Given the description of an element on the screen output the (x, y) to click on. 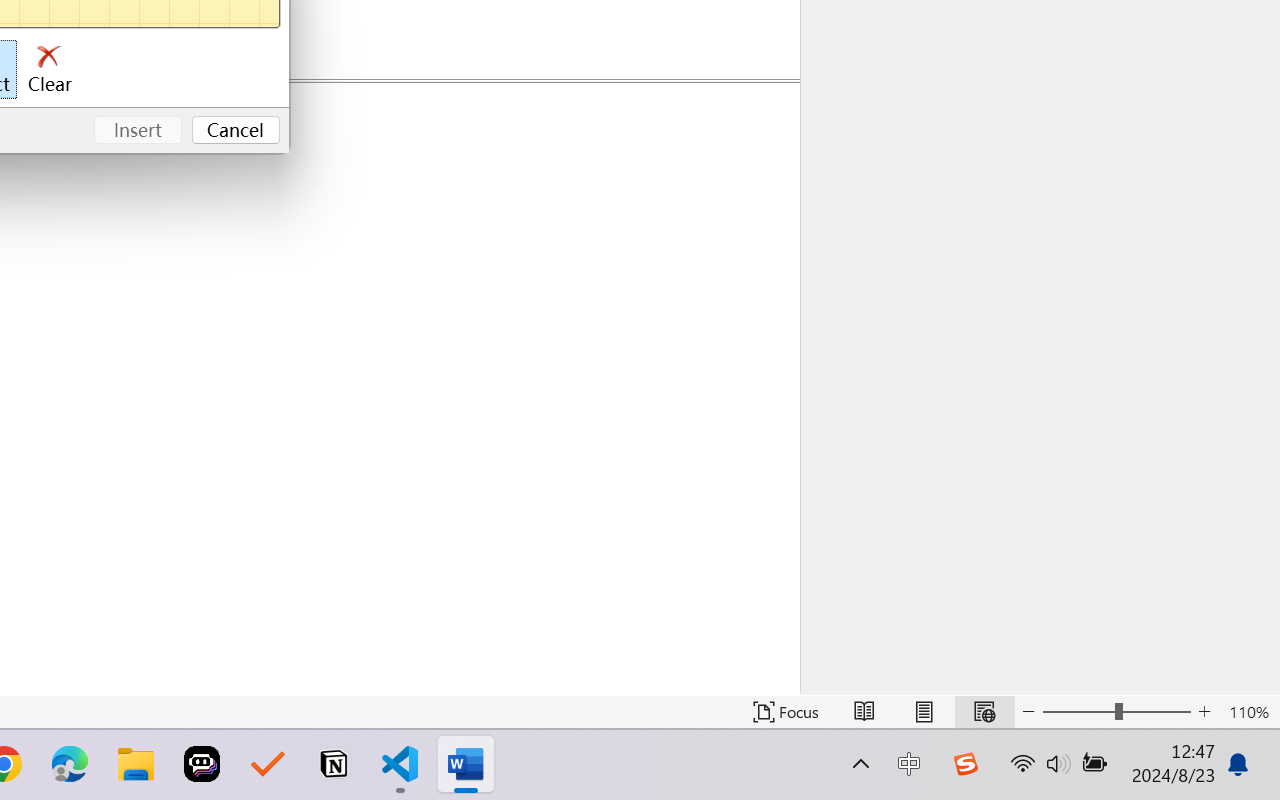
Cancel (235, 129)
